Given the description of an element on the screen output the (x, y) to click on. 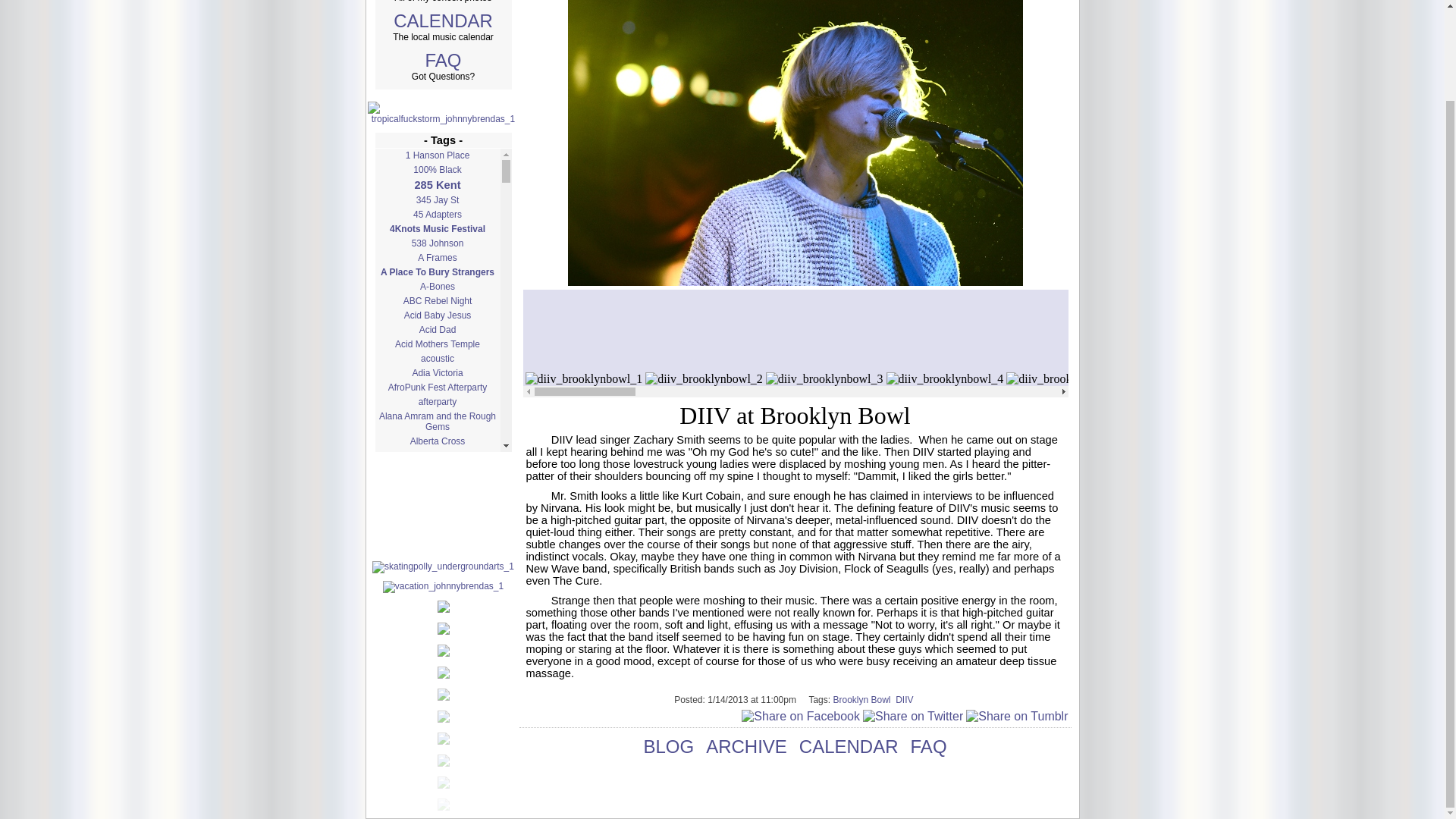
Andre Williams (436, 606)
Alex Battles (436, 484)
4Knots Music Festival (436, 228)
afterparty (436, 401)
538 Johnson (436, 243)
Alberta Cross (436, 440)
285 Kent (436, 184)
1 Hanson Place (436, 155)
Acid Mothers Temple (436, 344)
Andy Animal (436, 621)
A Frames (436, 257)
Acid Baby Jesus (436, 315)
Share on Tumblr (1016, 716)
Algiers (436, 523)
Share on Facebook (800, 716)
